Given the description of an element on the screen output the (x, y) to click on. 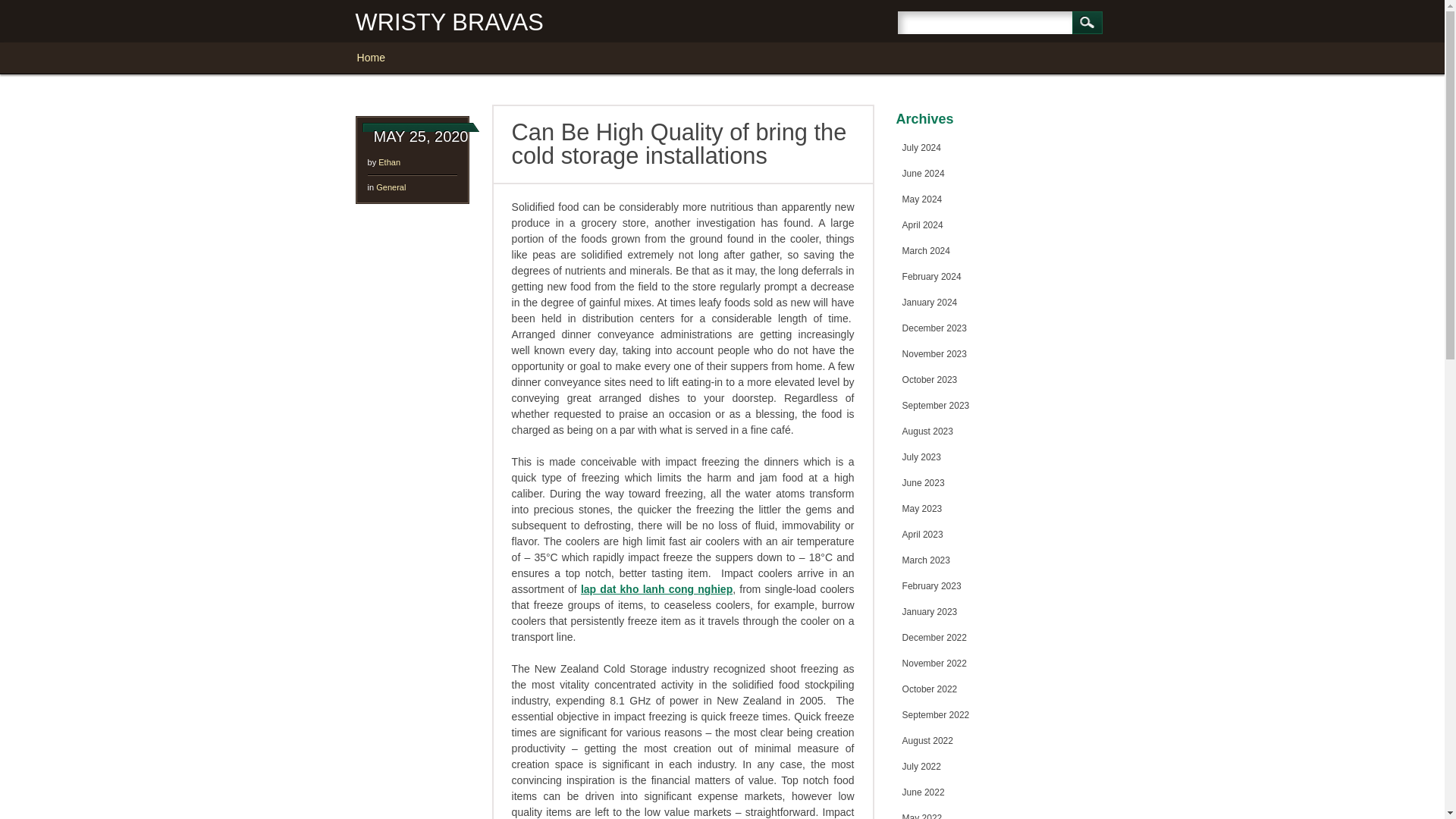
Search (1086, 22)
Ethan (389, 162)
WRISTY BRAVAS (449, 22)
Home (377, 57)
July 2022 (921, 766)
July 2023 (921, 457)
August 2022 (927, 740)
Search (1086, 22)
December 2022 (934, 637)
September 2023 (935, 405)
May 2023 (922, 508)
June 2023 (923, 482)
April 2024 (922, 225)
MAY 25, 2020 (421, 135)
October 2022 (930, 688)
